Given the description of an element on the screen output the (x, y) to click on. 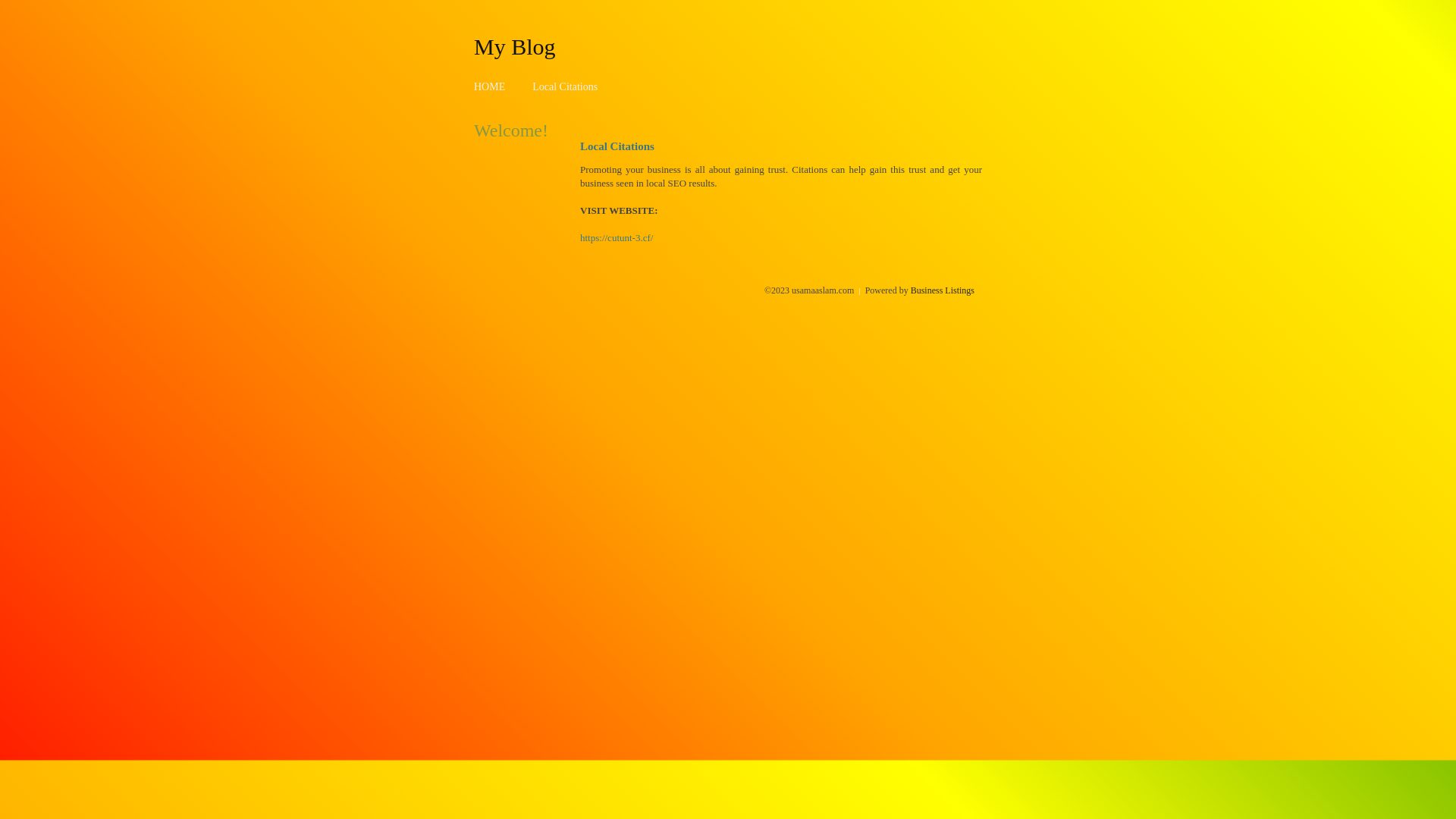
Business Listings Element type: text (942, 290)
https://cutunt-3.cf/ Element type: text (616, 237)
HOME Element type: text (489, 86)
My Blog Element type: text (514, 46)
Local Citations Element type: text (564, 86)
